Given the description of an element on the screen output the (x, y) to click on. 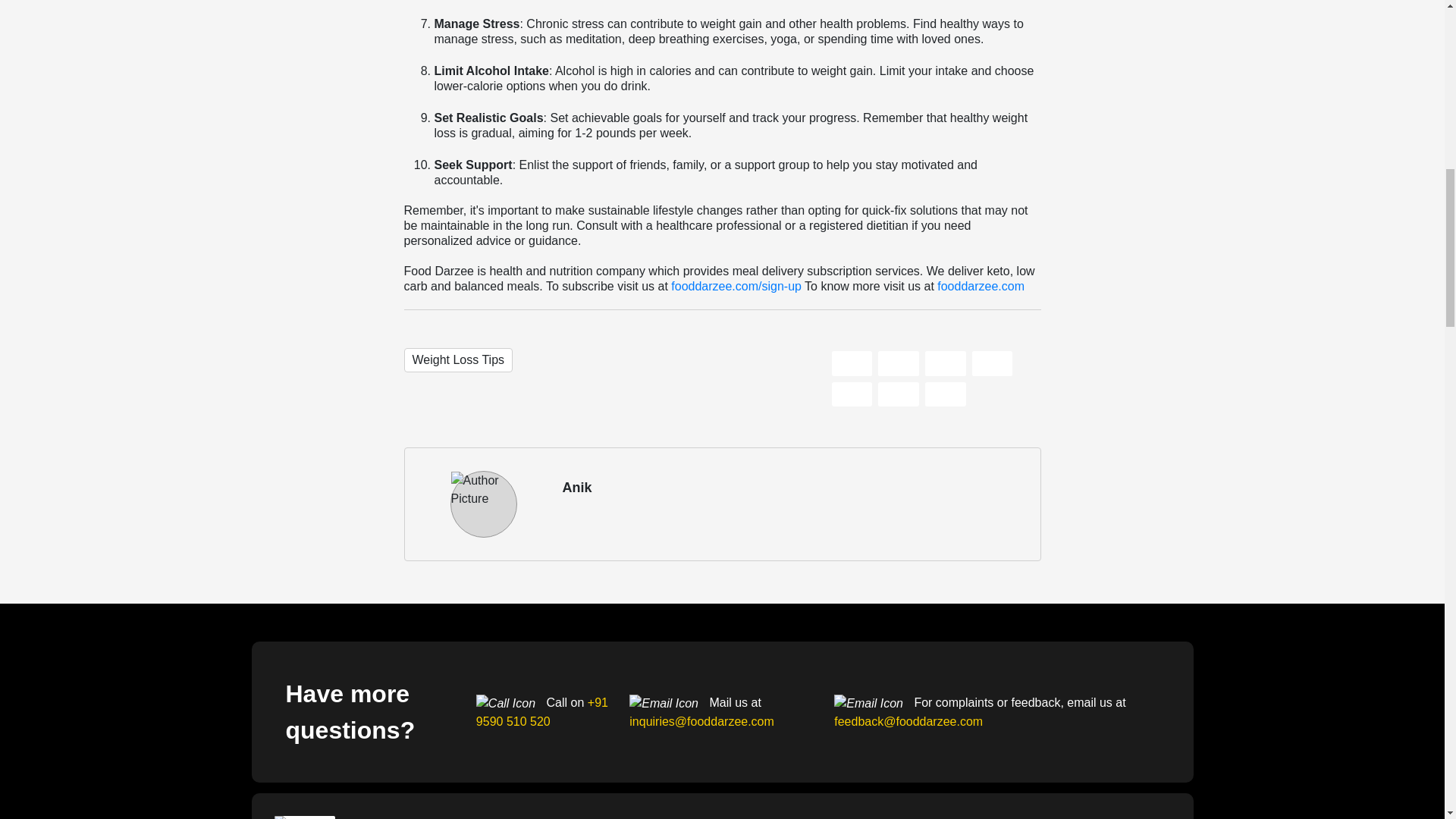
fooddarzee.com (981, 286)
